Given the description of an element on the screen output the (x, y) to click on. 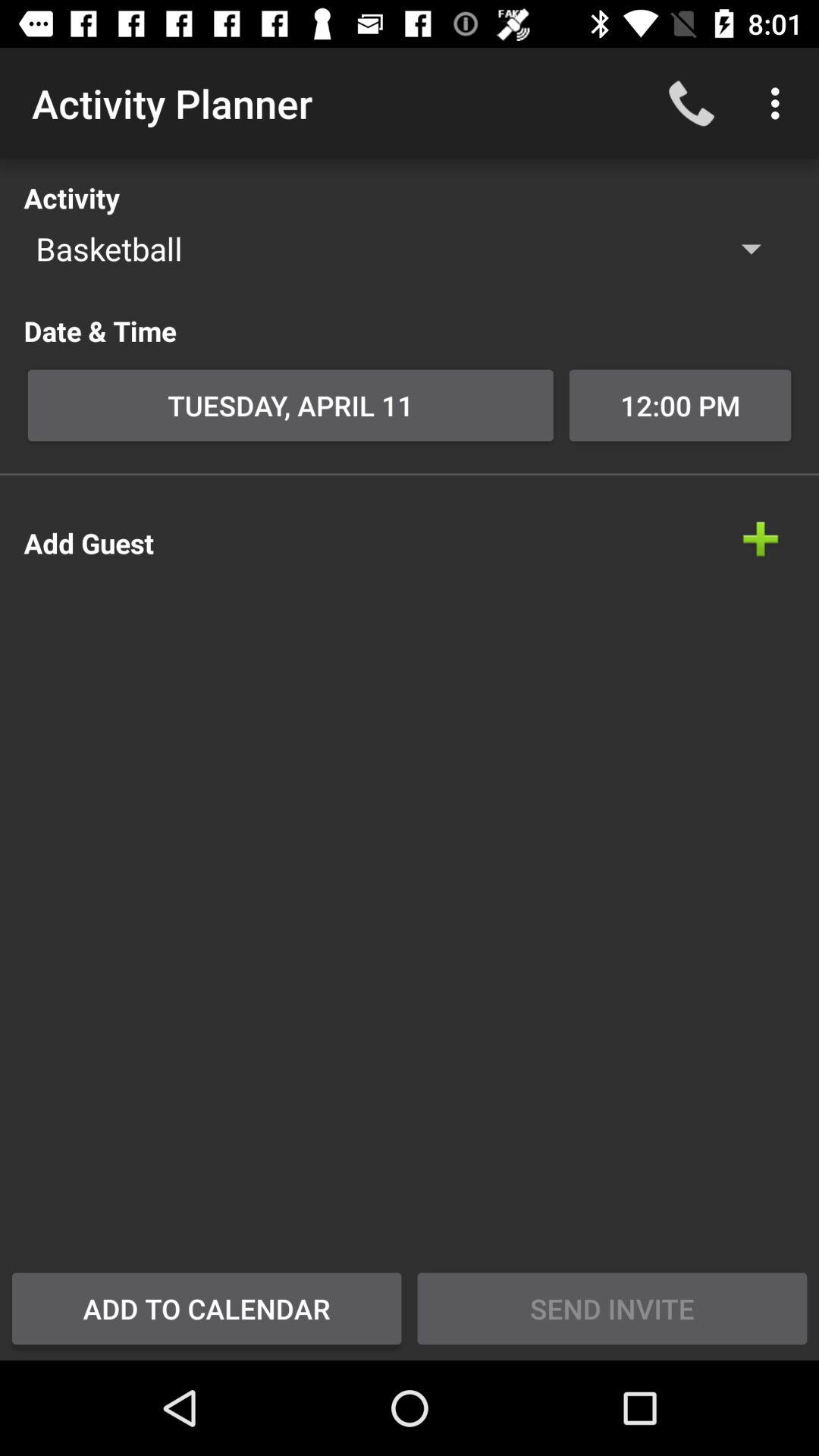
launch add to calendar item (206, 1308)
